Given the description of an element on the screen output the (x, y) to click on. 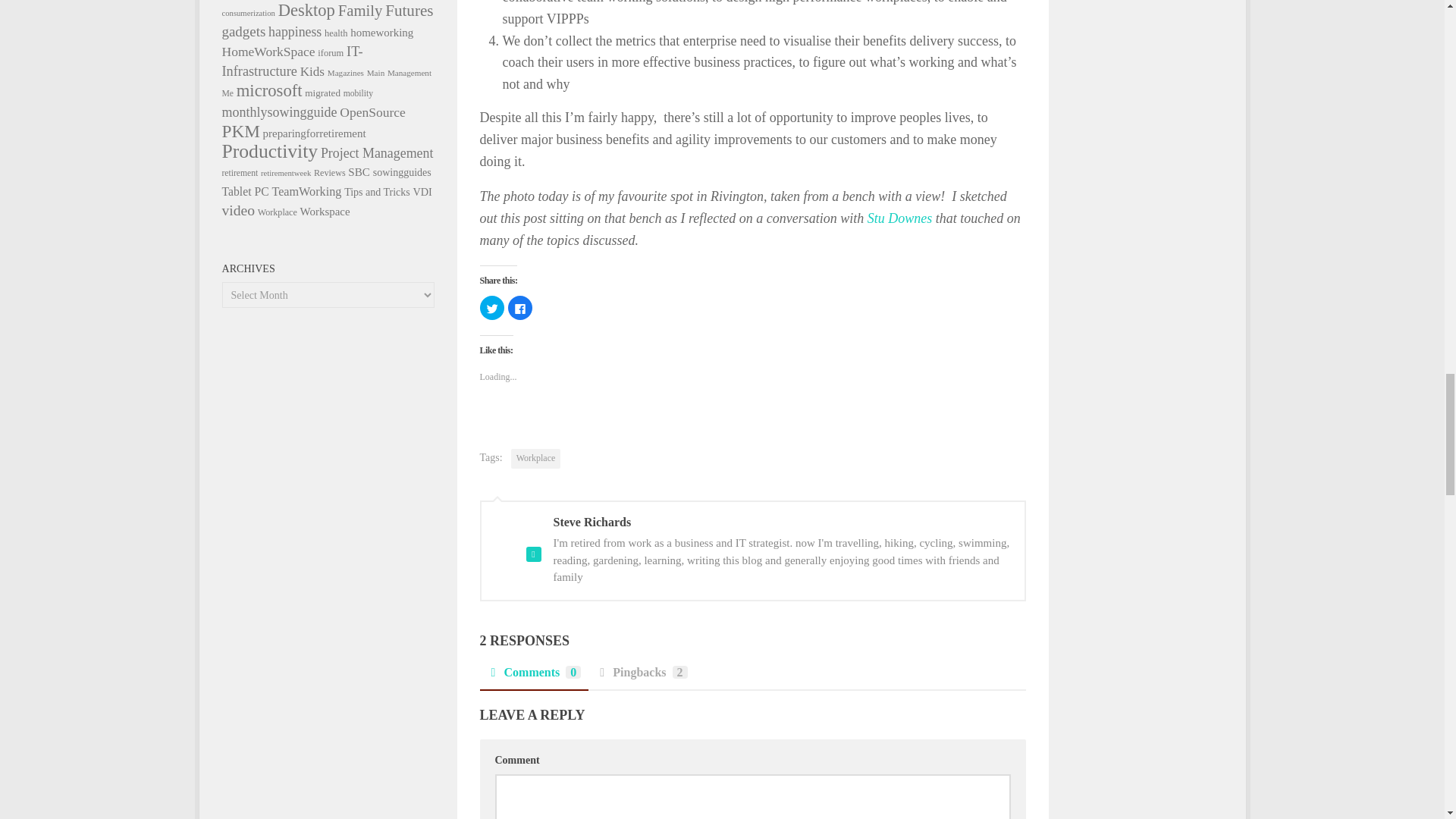
Pingbacks2 (641, 677)
Stu Downes (900, 218)
Click to share on Facebook (520, 307)
Comments0 (533, 677)
Click to share on Twitter (491, 307)
Workplace (535, 458)
